Given the description of an element on the screen output the (x, y) to click on. 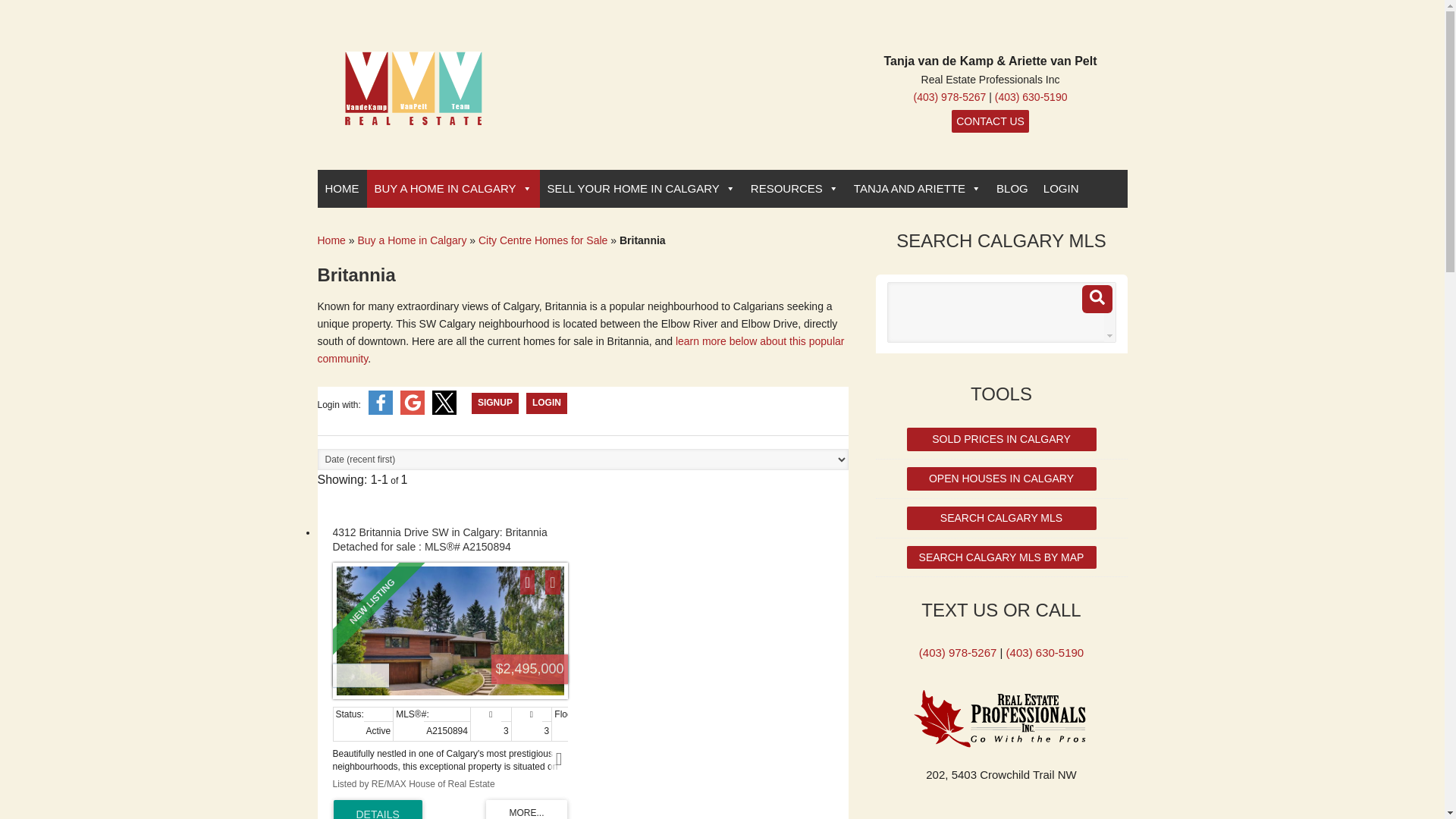
HOME (341, 188)
Login with Google (412, 411)
BUY A HOME IN CALGARY (453, 188)
Contact Us (990, 120)
Login with Facebook (380, 411)
MLS LISTING REALTOR (412, 104)
CONTACT US (990, 120)
